Given the description of an element on the screen output the (x, y) to click on. 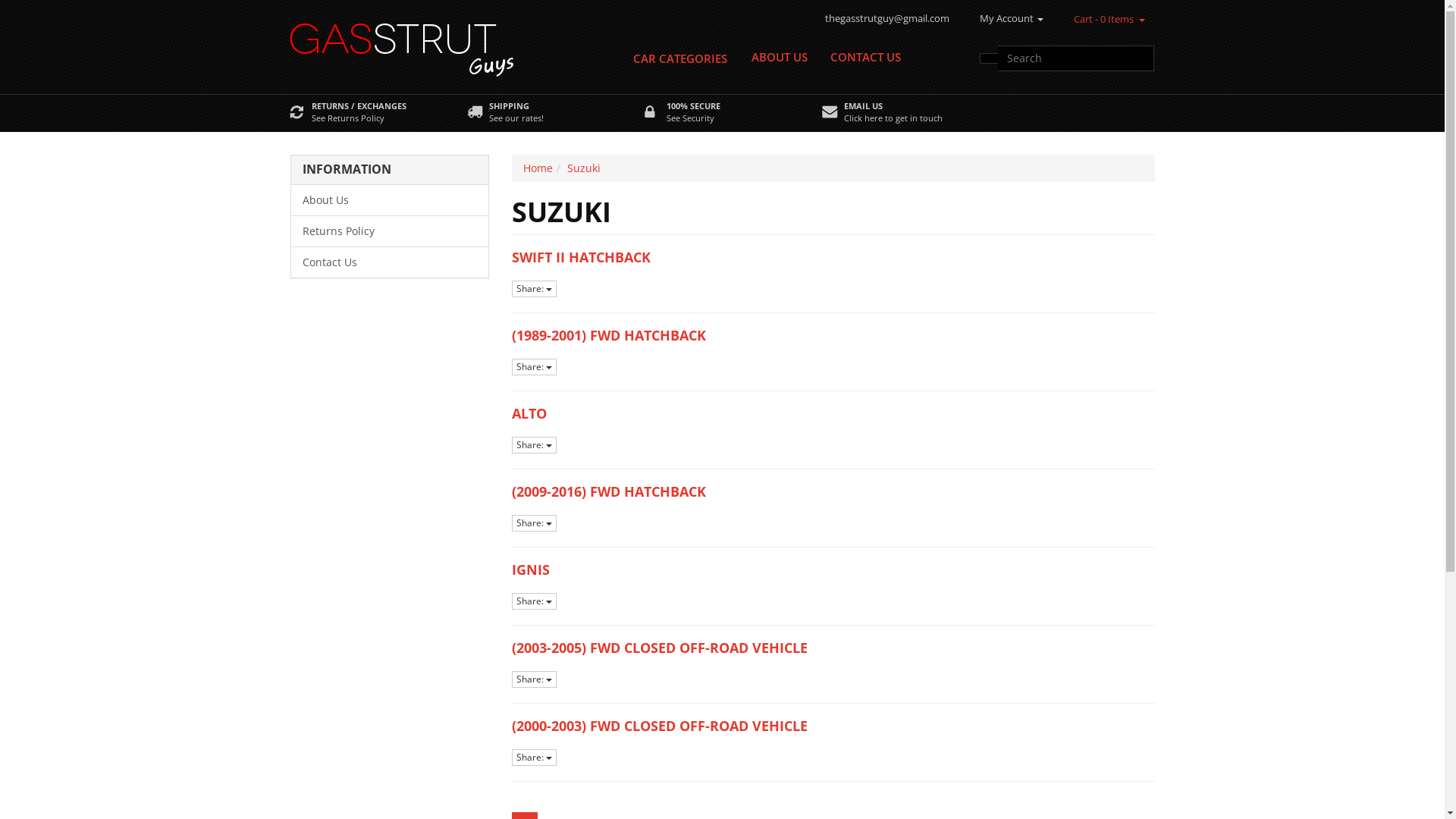
ALTO Element type: text (528, 413)
Share: Element type: text (533, 601)
SHIPPING Element type: text (508, 105)
Share: Element type: text (533, 679)
My Account Element type: text (1011, 18)
(2009-2016) FWD HATCHBACK Element type: text (608, 491)
(2000-2003) FWD CLOSED OFF-ROAD VEHICLE Element type: text (659, 725)
Cart - 0 Items Element type: text (1103, 19)
Returns Policy Element type: text (390, 230)
Home Element type: text (537, 167)
Gas Strut Guys Element type: hover (608, 48)
Share: Element type: text (533, 366)
ABOUT US Element type: text (779, 56)
(1989-2001) FWD HATCHBACK Element type: text (608, 335)
Suzuki Element type: text (583, 167)
CAR CATEGORIES Element type: text (680, 57)
SWIFT II HATCHBACK Element type: text (580, 256)
CONTACT US Element type: text (865, 56)
EMAIL US Element type: text (862, 105)
IGNIS Element type: text (530, 569)
Search Element type: text (988, 58)
Share: Element type: text (533, 757)
RETURNS / EXCHANGES Element type: text (357, 105)
Gas Strut Guys Element type: hover (401, 44)
(2003-2005) FWD CLOSED OFF-ROAD VEHICLE Element type: text (659, 647)
About Us Element type: text (390, 200)
Contact Us Element type: text (390, 261)
100% SECURE Element type: text (692, 105)
thegasstrutguy@gmail.com Element type: text (887, 18)
Share: Element type: text (533, 444)
Share: Element type: text (533, 522)
Share: Element type: text (533, 288)
